Given the description of an element on the screen output the (x, y) to click on. 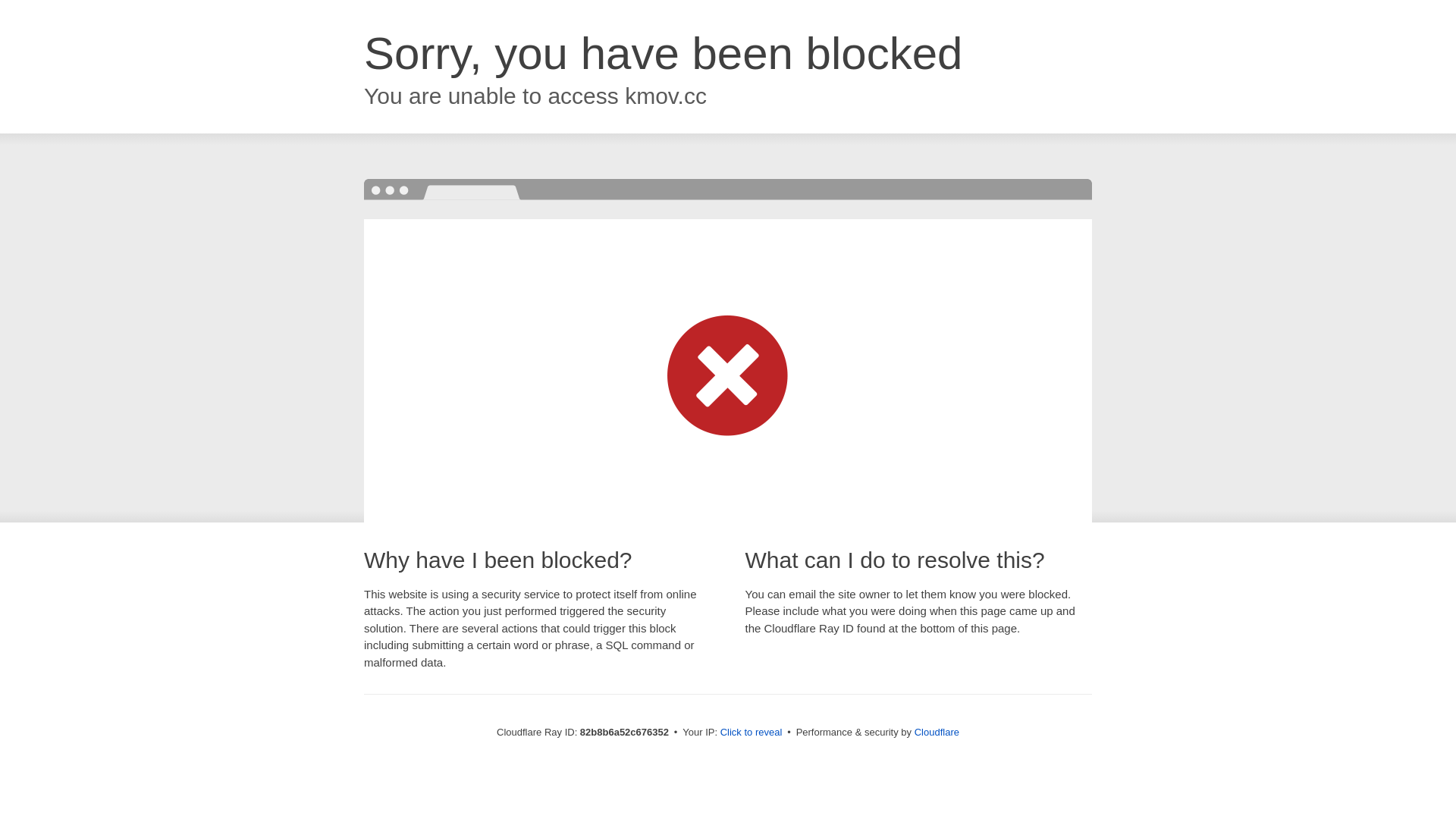
Click to reveal Element type: text (751, 732)
Cloudflare Element type: text (936, 731)
